Given the description of an element on the screen output the (x, y) to click on. 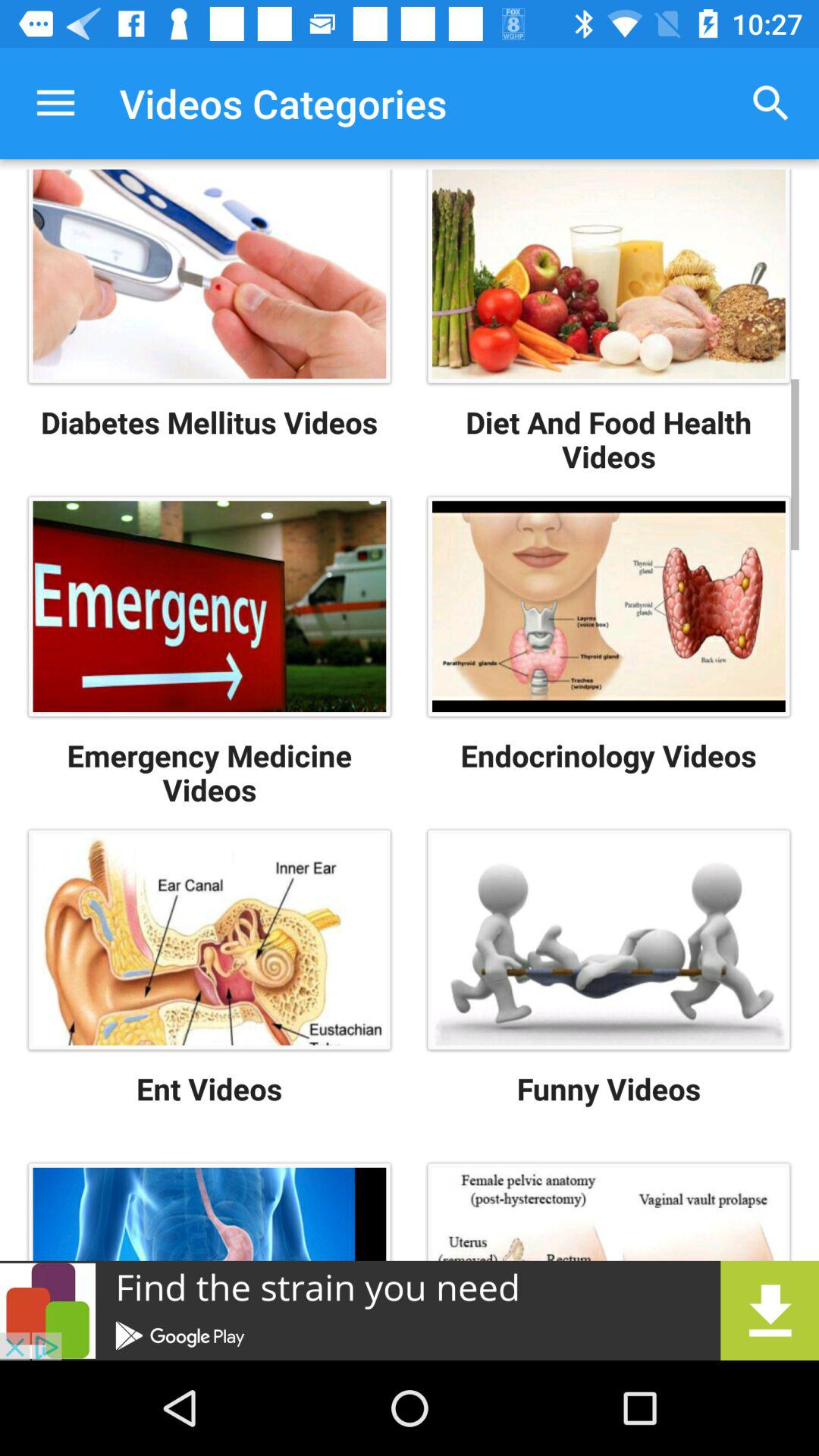
advertisement option (409, 1310)
